Given the description of an element on the screen output the (x, y) to click on. 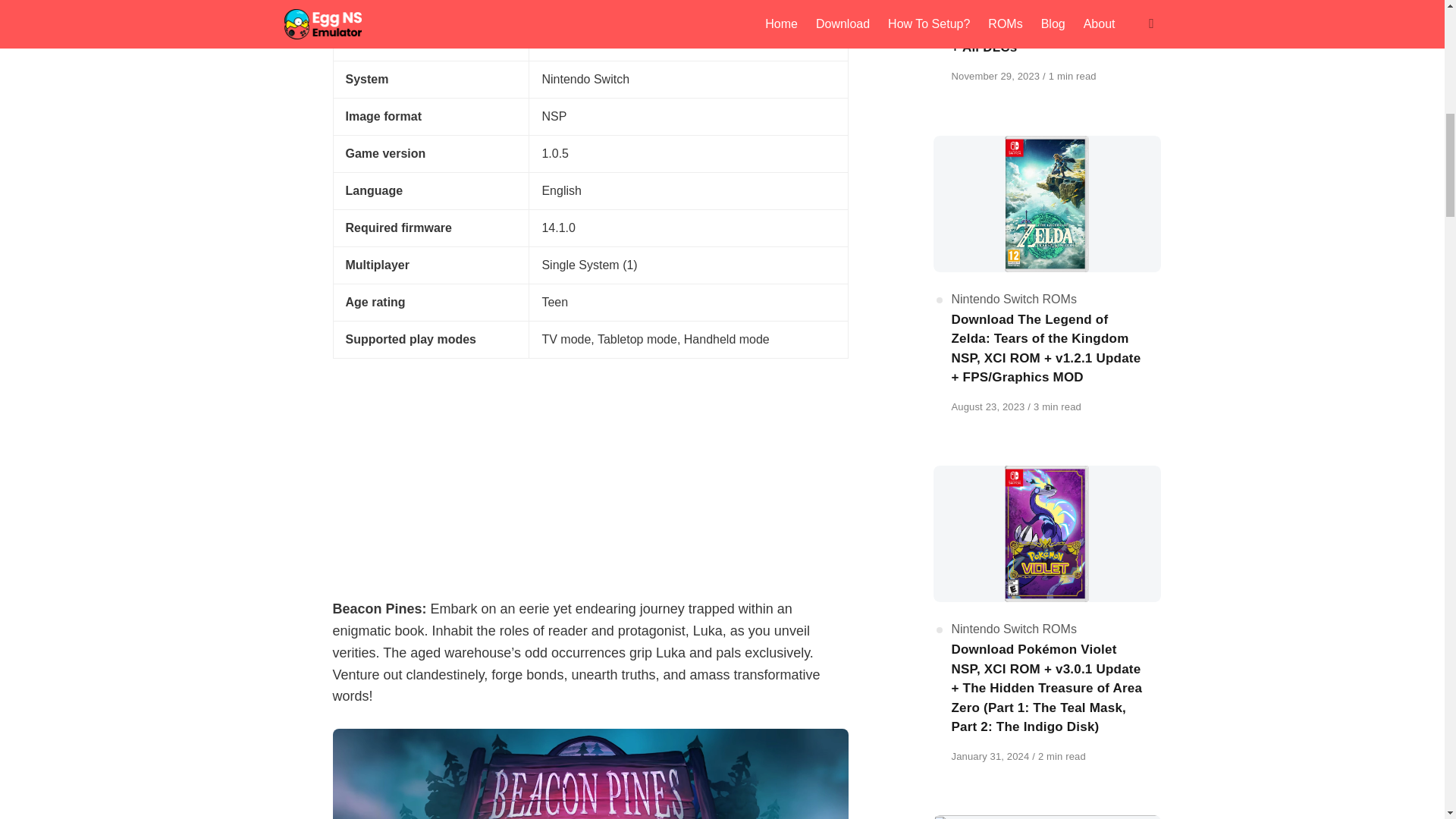
August 23, 2023 (988, 406)
Nintendo Switch ROMs (1012, 628)
Nintendo Switch ROMs (1012, 298)
January 31, 2024 (991, 756)
November 29, 2023 (996, 75)
Advertisement (589, 470)
